Given the description of an element on the screen output the (x, y) to click on. 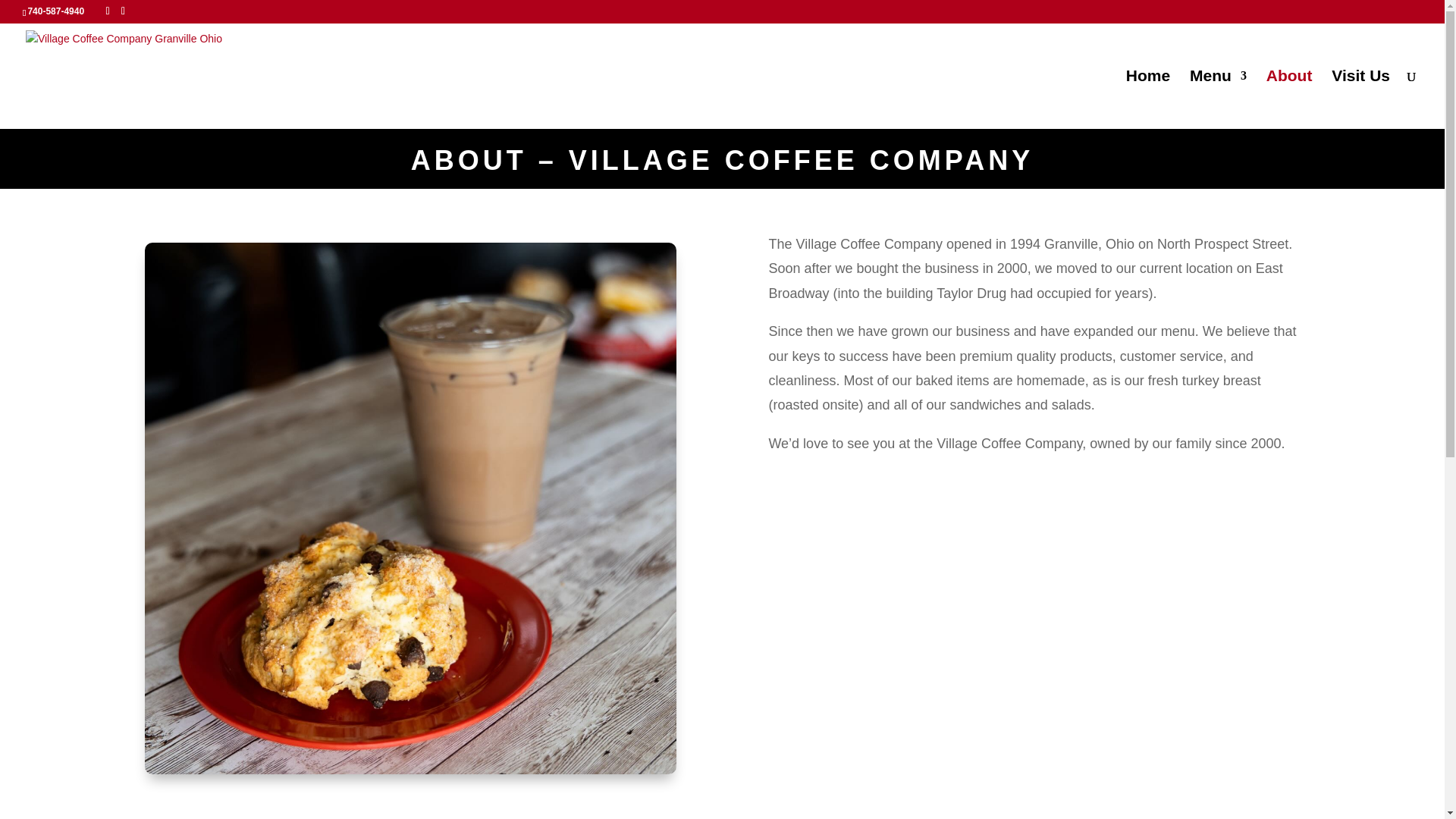
Menu (1217, 99)
Visit Us (1361, 99)
